Given the description of an element on the screen output the (x, y) to click on. 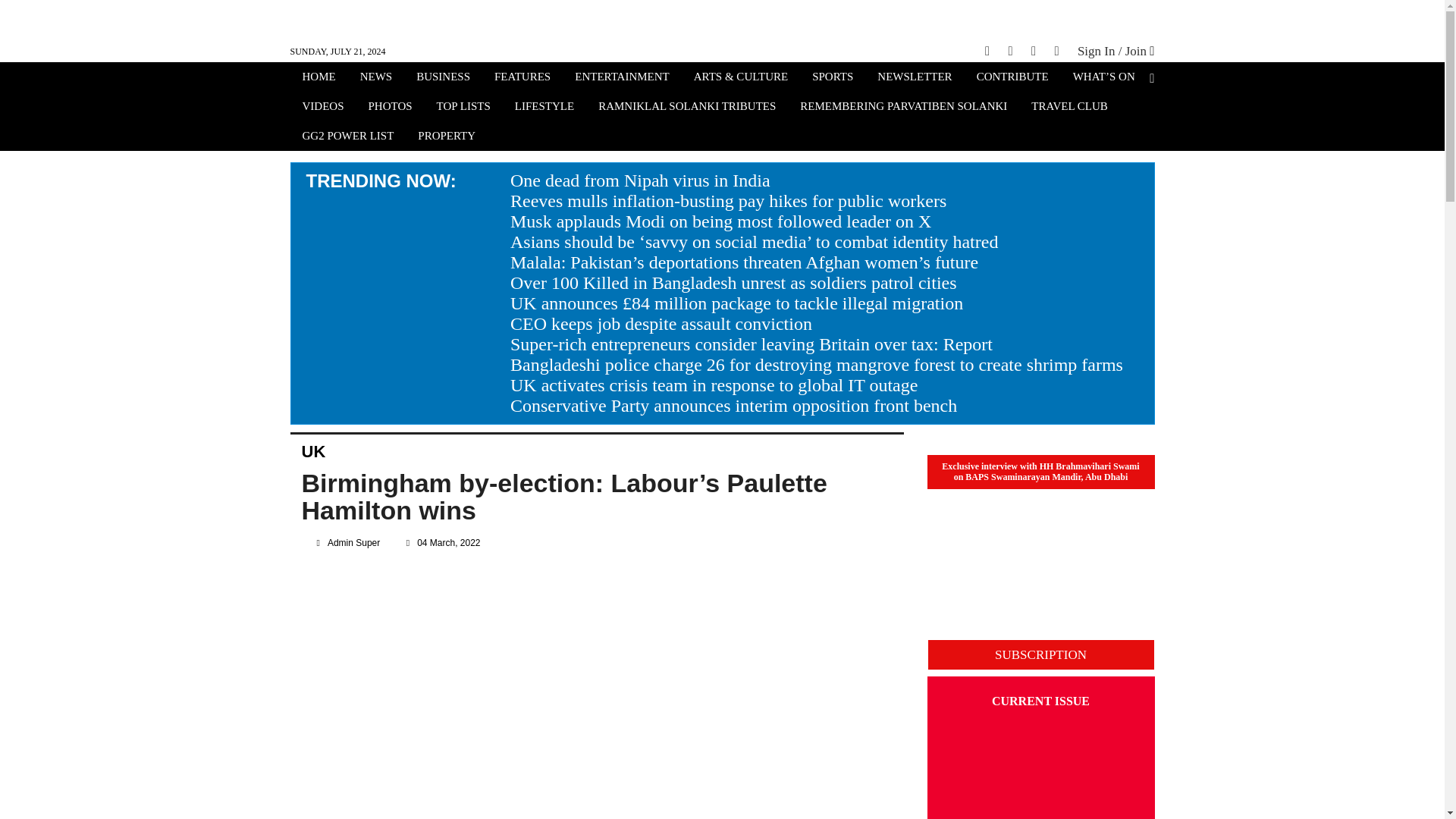
CEO keeps job despite assault conviction (661, 323)
CONTRIBUTE (1012, 78)
TOP LISTS (463, 108)
TRAVEL CLUB (1069, 108)
HOME (317, 78)
LIFESTYLE (543, 108)
RAMNIKLAL SOLANKI TRIBUTES (686, 108)
BUSINESS (443, 78)
VIDEOS (322, 108)
ENTERTAINMENT (622, 78)
GG2 POWER LIST (346, 137)
PHOTOS (390, 108)
NEWS (375, 78)
NEWSLETTER (914, 78)
